Given the description of an element on the screen output the (x, y) to click on. 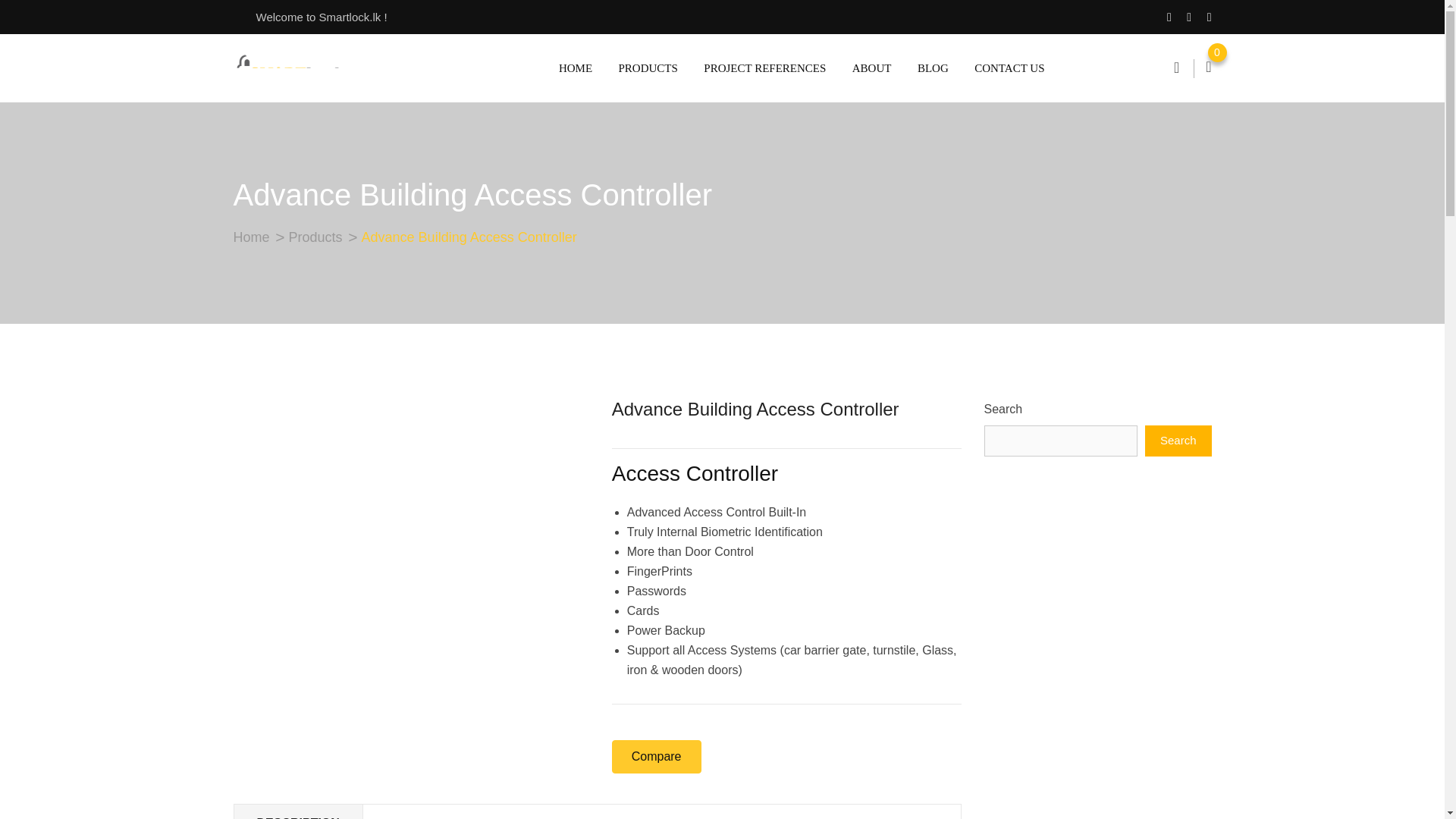
PRODUCTS (647, 68)
Search (1177, 440)
BLOG (932, 68)
Compare (656, 756)
CONTACT US (1002, 68)
Home (250, 237)
ABOUT (871, 68)
DESCRIPTION (296, 811)
Products (315, 237)
HOME (575, 68)
0 (1208, 67)
PROJECT REFERENCES (765, 68)
